Given the description of an element on the screen output the (x, y) to click on. 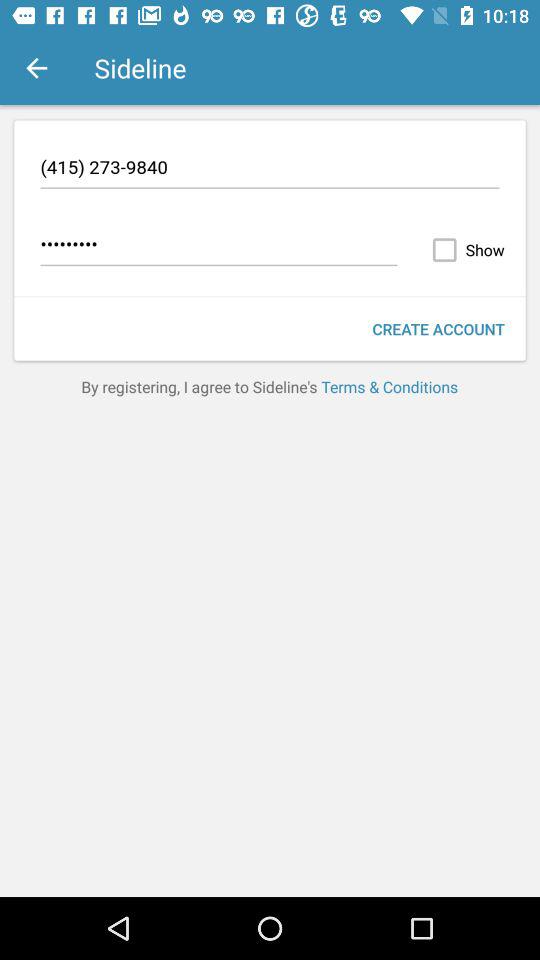
jump to the crowd3116 (218, 247)
